Given the description of an element on the screen output the (x, y) to click on. 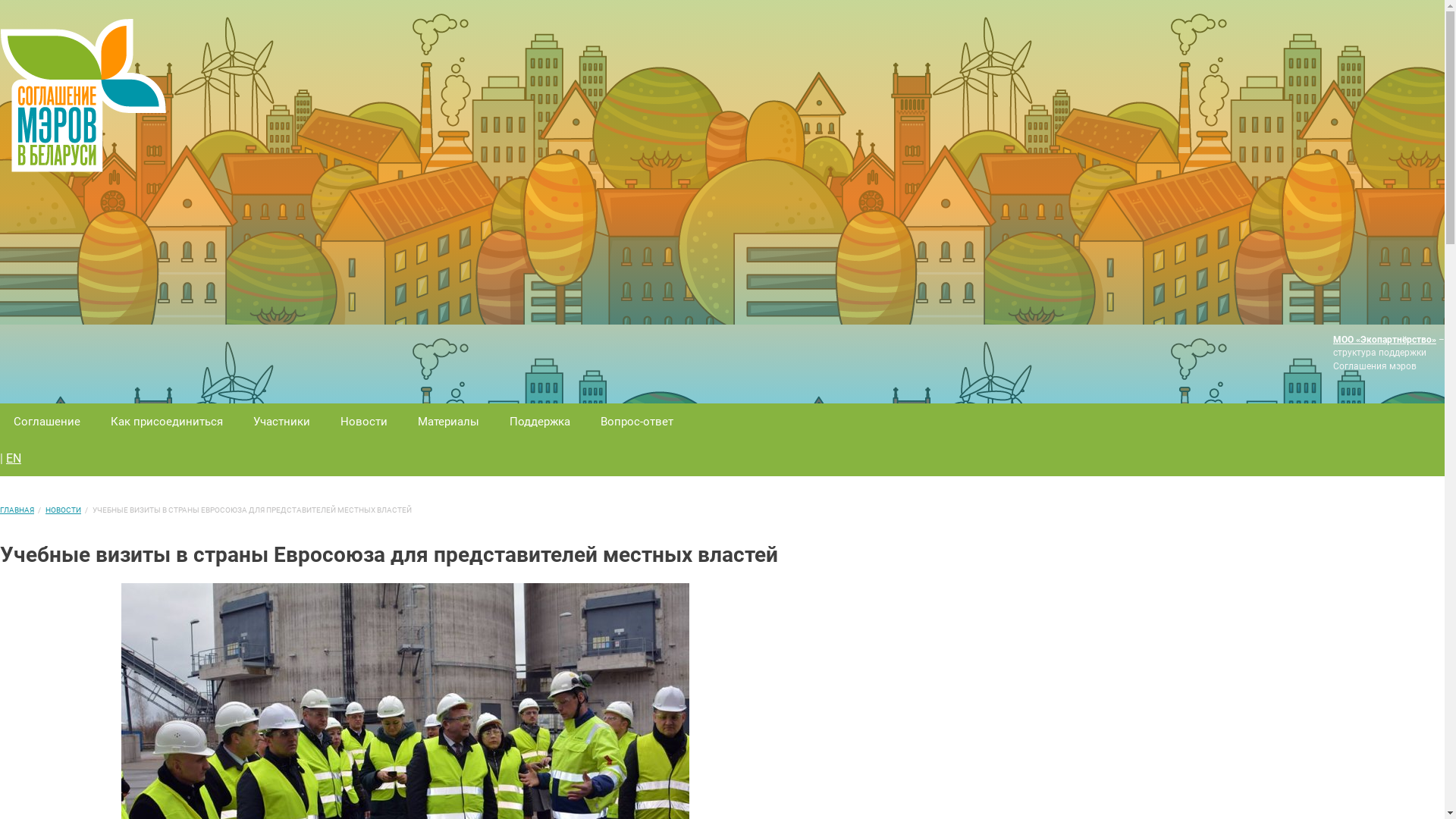
EN Element type: text (13, 458)
